Given the description of an element on the screen output the (x, y) to click on. 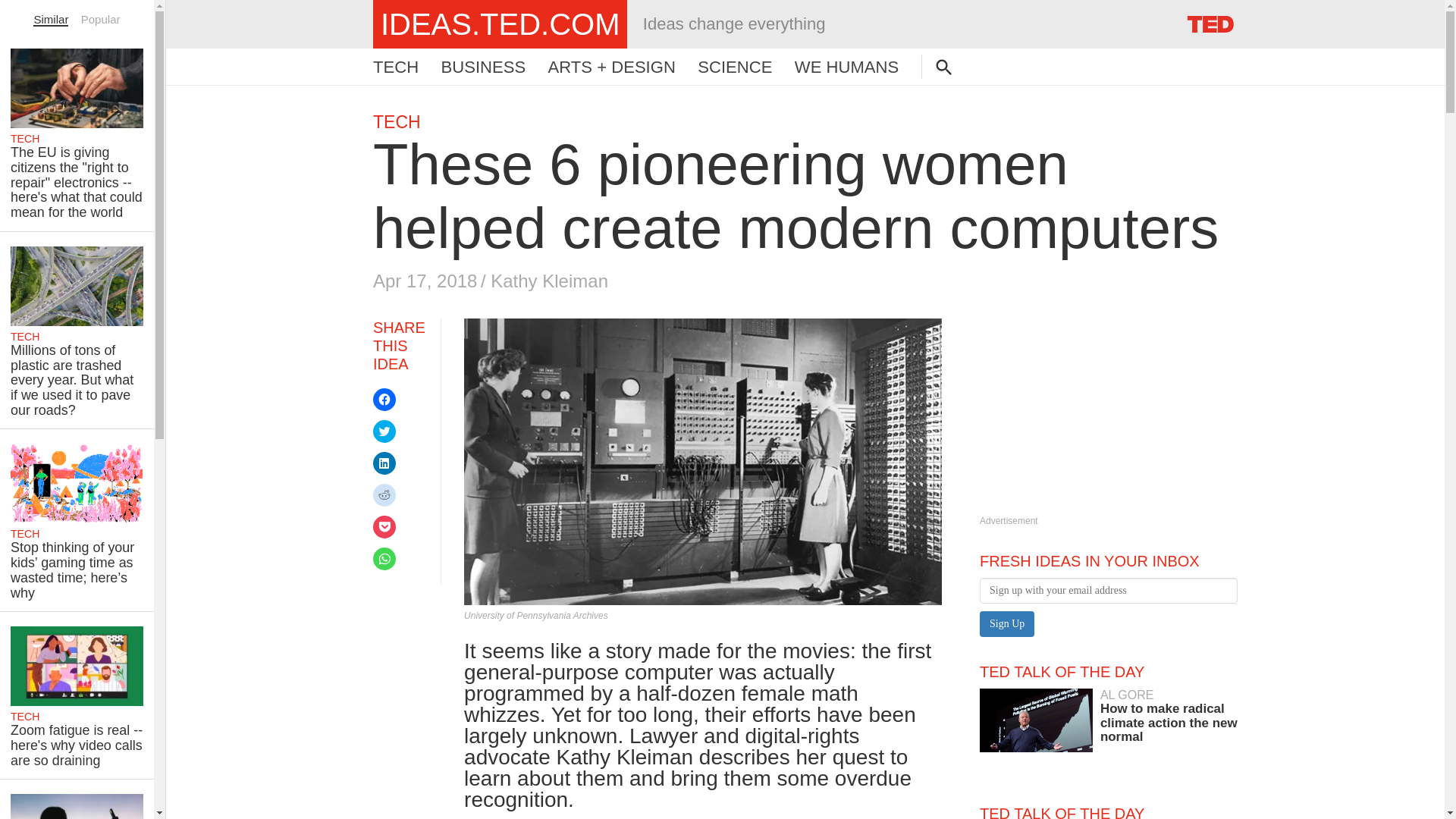
Click to share on LinkedIn (384, 463)
Click to share on Pocket (384, 526)
Posts by Kathy Kleiman (549, 281)
Click to share on Reddit (384, 495)
Search (29, 11)
Click to share on Twitter (384, 431)
SCIENCE (734, 66)
IDEAS.TED.COM (499, 24)
Click to share on Facebook (384, 399)
BUSINESS (483, 66)
TECH (396, 121)
Kathy Kleiman (549, 281)
Sign Up (1006, 623)
3rd party ad content (1093, 412)
TECH (395, 66)
